Given the description of an element on the screen output the (x, y) to click on. 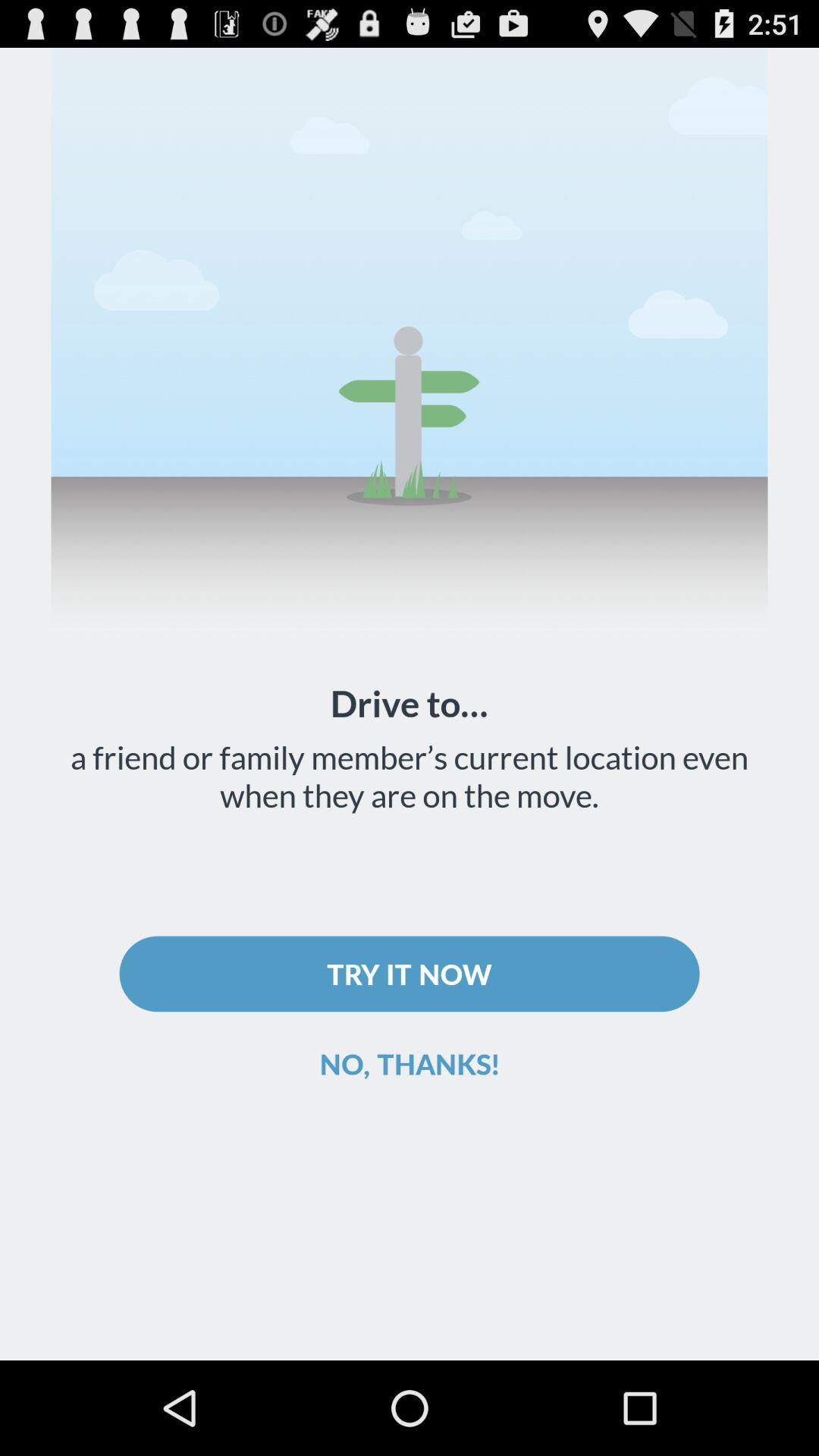
turn off the icon below the try it now item (409, 1063)
